Given the description of an element on the screen output the (x, y) to click on. 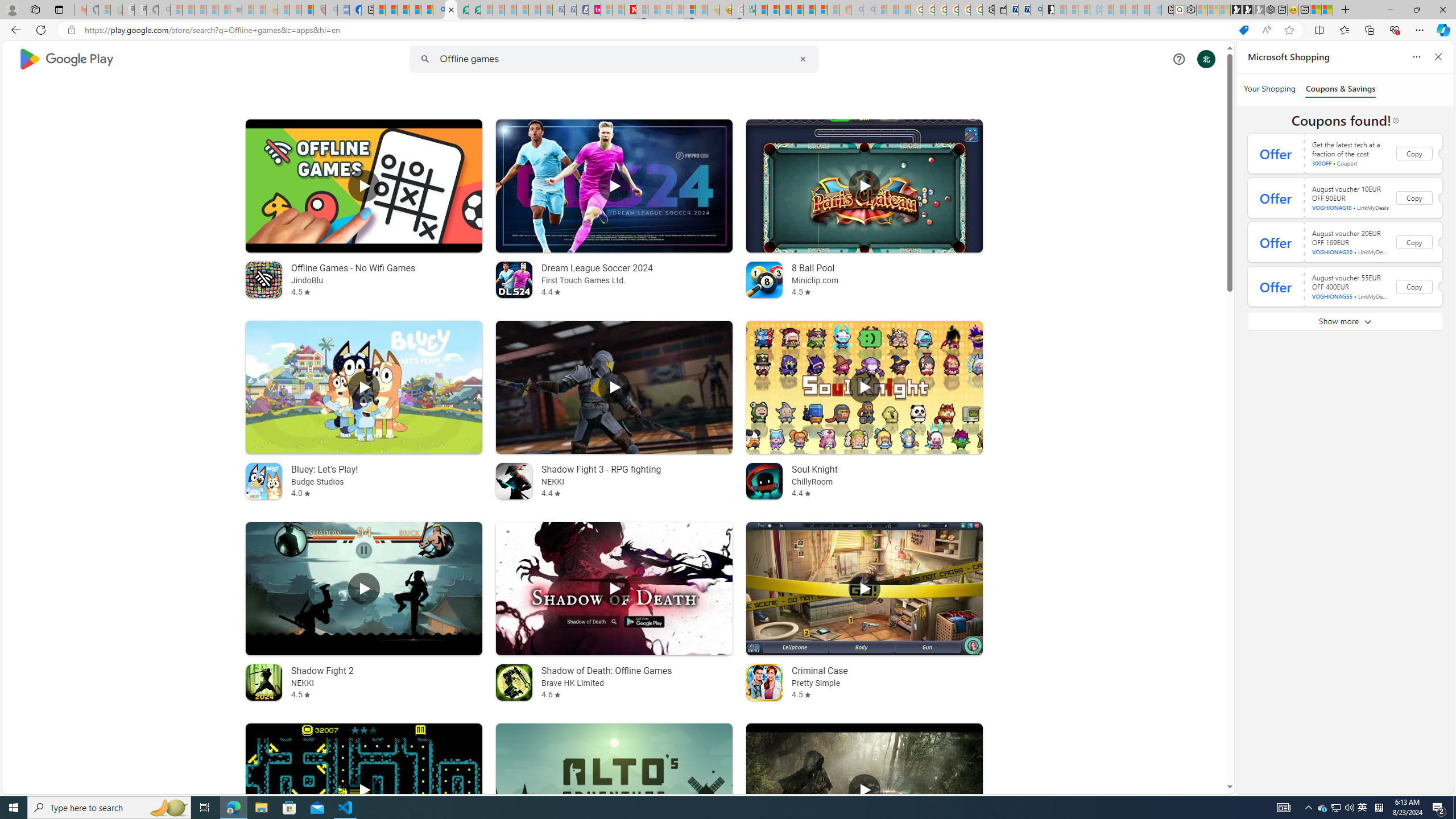
Microsoft Start Gaming (1047, 9)
Microsoft account | Privacy (773, 9)
Combat Siege (236, 9)
Latest Politics News & Archive | Newsweek.com (629, 9)
google - Search (438, 9)
The Weather Channel - MSN - Sleeping (200, 9)
Read aloud this page (Ctrl+Shift+U) (1266, 29)
